Given the description of an element on the screen output the (x, y) to click on. 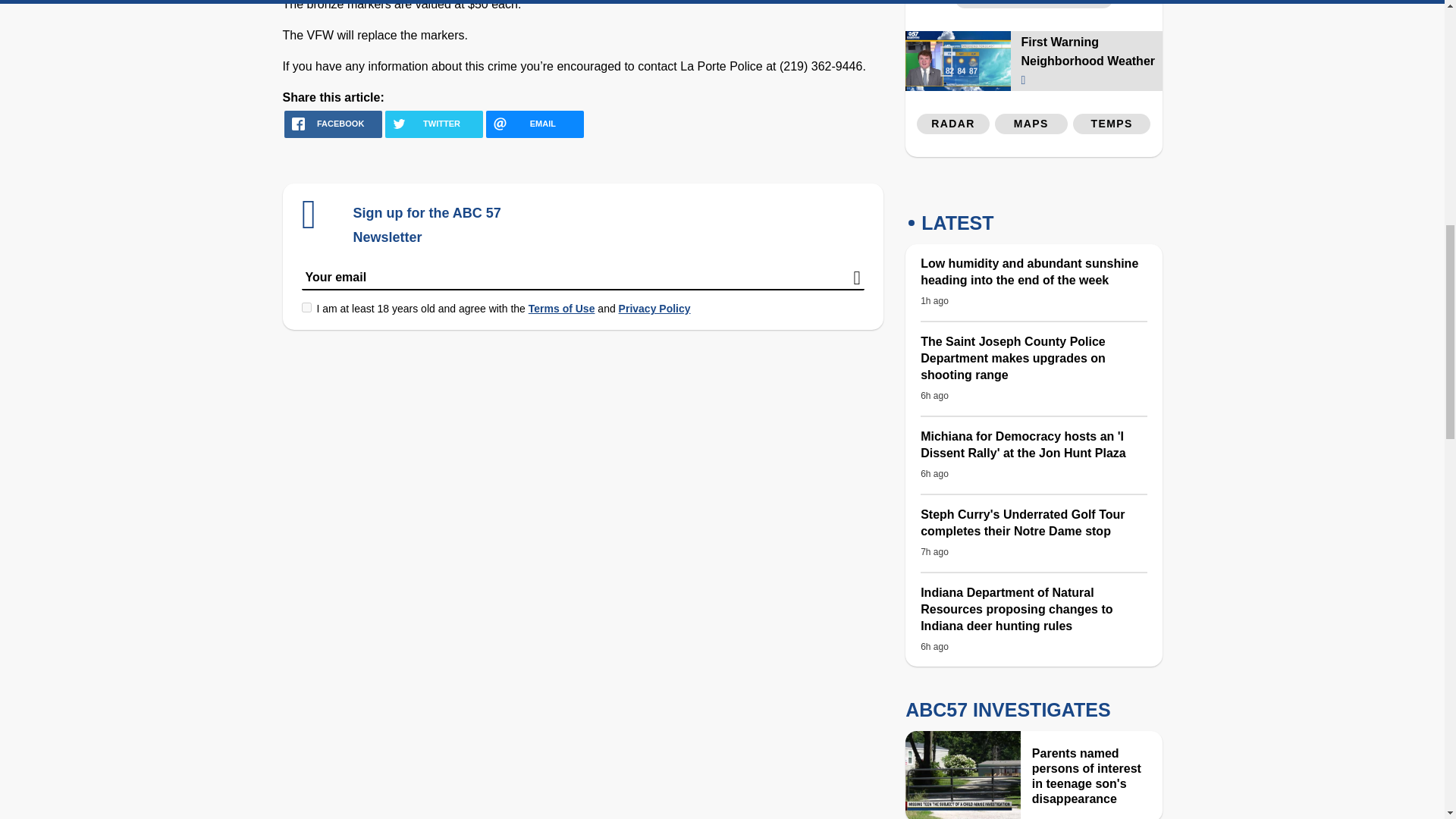
on (306, 307)
